Given the description of an element on the screen output the (x, y) to click on. 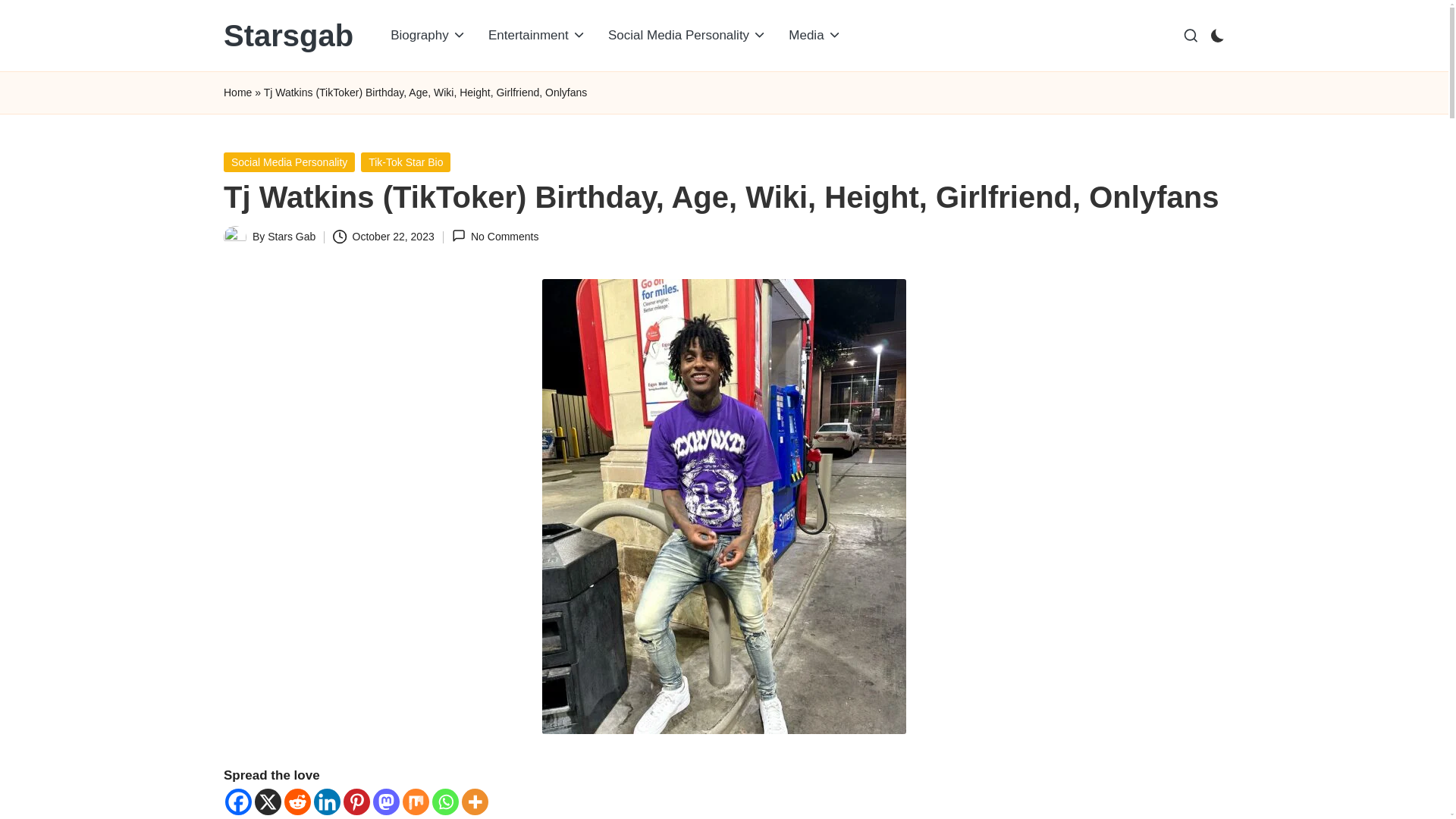
Entertainment (536, 35)
More (474, 801)
Mastodon (385, 801)
Social Media Personality (686, 35)
Mix (416, 801)
View all posts by Stars Gab (291, 236)
Pinterest (356, 801)
Biography (428, 35)
Facebook (238, 801)
Reddit (297, 801)
X (267, 801)
Linkedin (327, 801)
Whatsapp (445, 801)
Starsgab (288, 35)
